Given the description of an element on the screen output the (x, y) to click on. 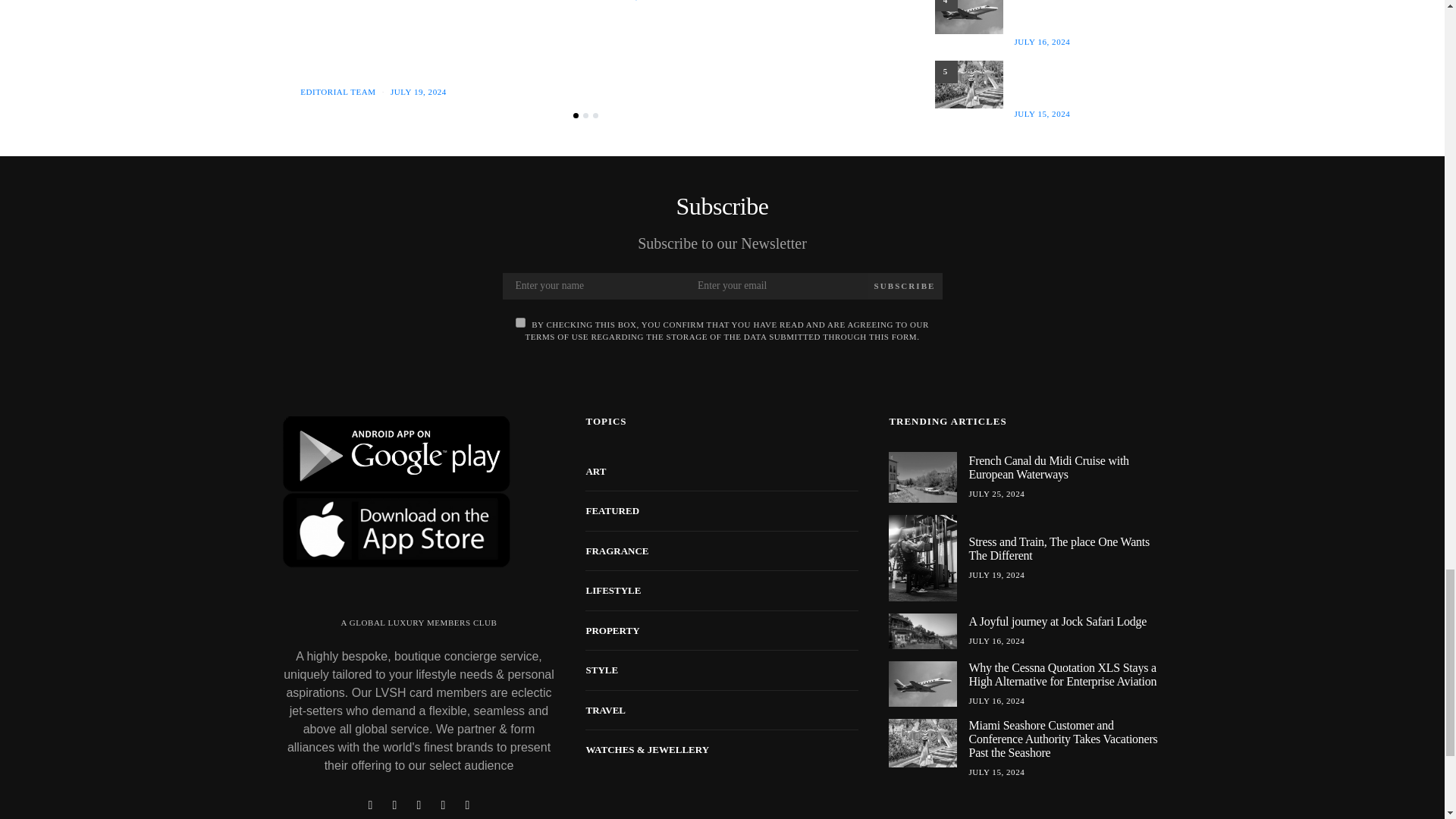
on (520, 321)
View all posts by Editorial Team (337, 90)
